Given the description of an element on the screen output the (x, y) to click on. 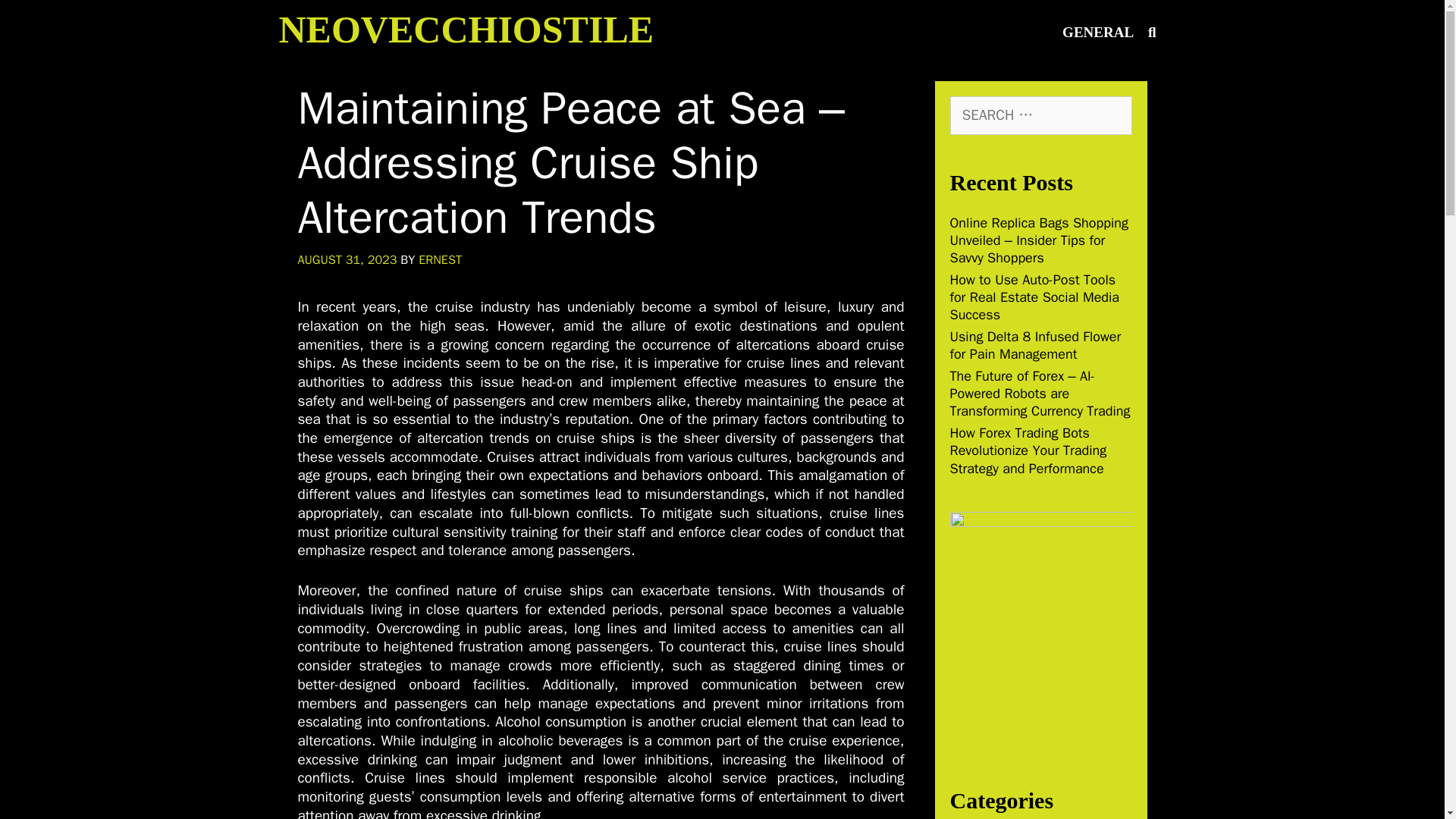
SEARCH (1152, 31)
NEOVECCHIOSTILE (466, 29)
View all posts by Ernest (440, 259)
Search (45, 18)
Search (53, 27)
Search for: (1040, 115)
GENERAL (1098, 31)
Using Delta 8 Infused Flower for Pain Management (1035, 345)
AUGUST 31, 2023 (346, 259)
ERNEST (440, 259)
Search (1152, 31)
1:03 pm (346, 259)
